Given the description of an element on the screen output the (x, y) to click on. 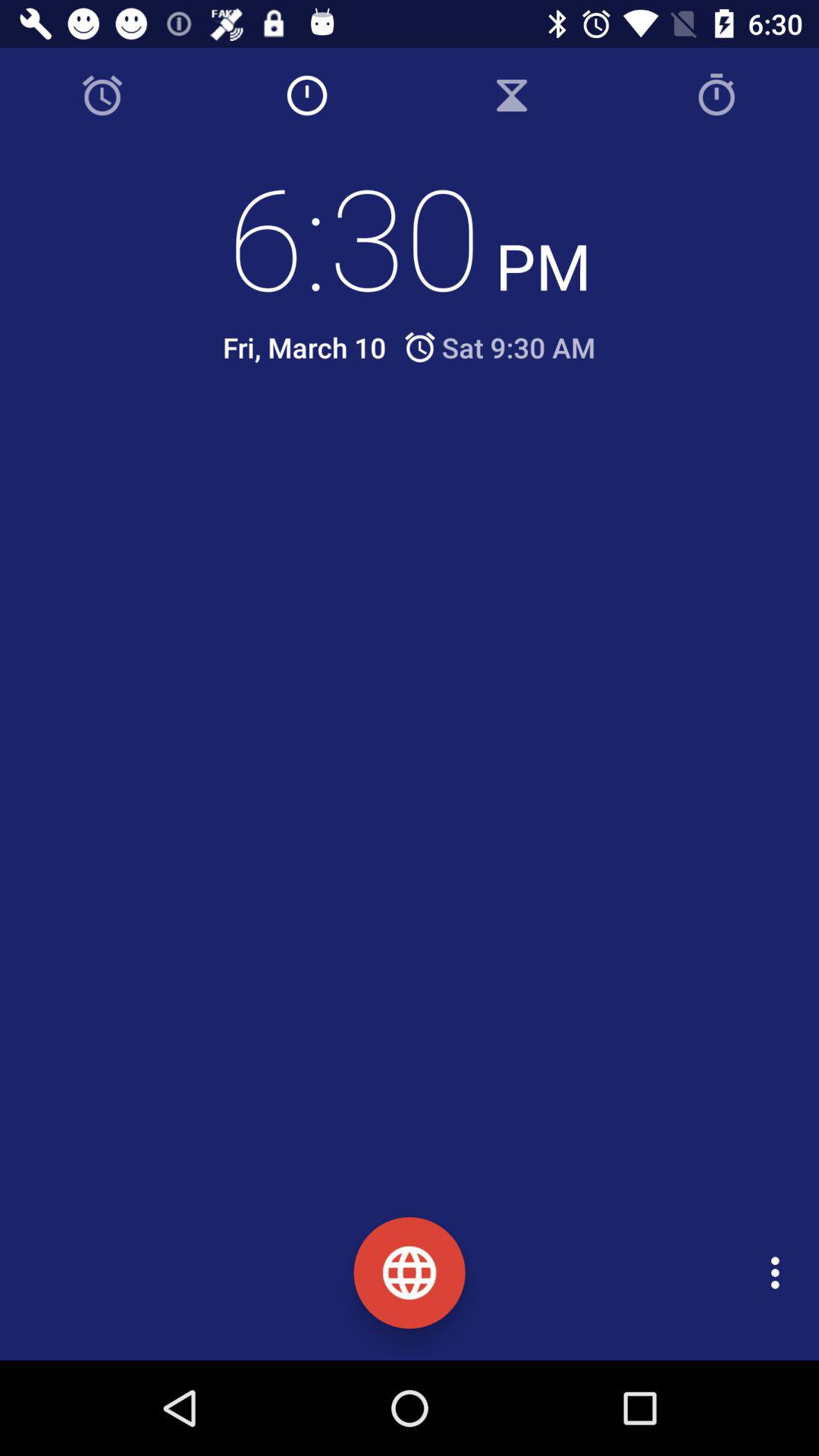
turn on item to the right of fri, march 10 (498, 347)
